Given the description of an element on the screen output the (x, y) to click on. 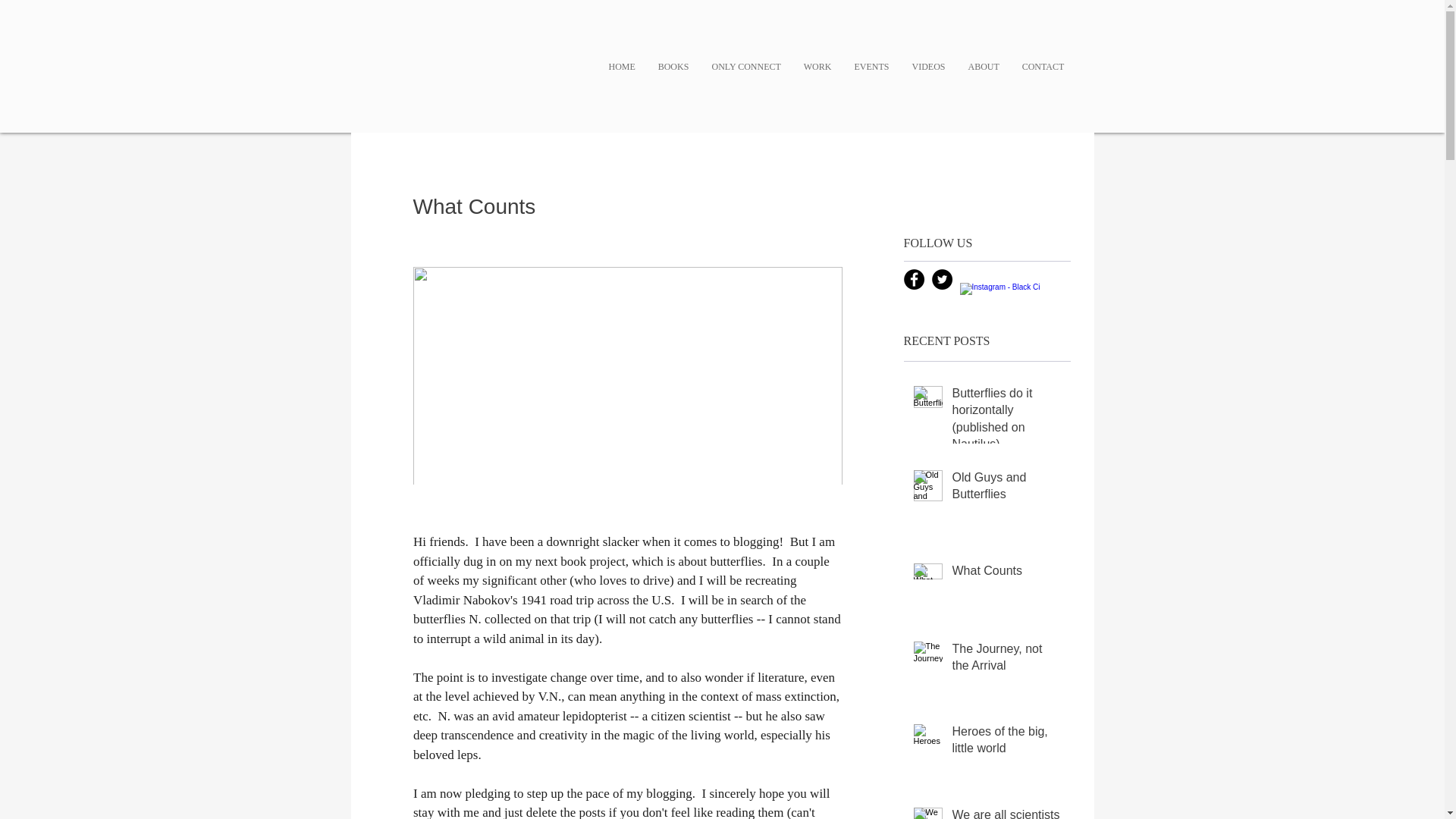
EVENTS (872, 67)
BOOKS (673, 67)
HOME (621, 67)
We are all scientists (1006, 812)
WORK (817, 67)
VIDEOS (928, 67)
CONTACT (1042, 67)
ABOUT (983, 67)
The Journey, not the Arrival (1006, 660)
ONLY CONNECT (746, 67)
Old Guys and Butterflies (1006, 489)
Heroes of the big, little world (1006, 743)
What Counts (1006, 573)
